Given the description of an element on the screen output the (x, y) to click on. 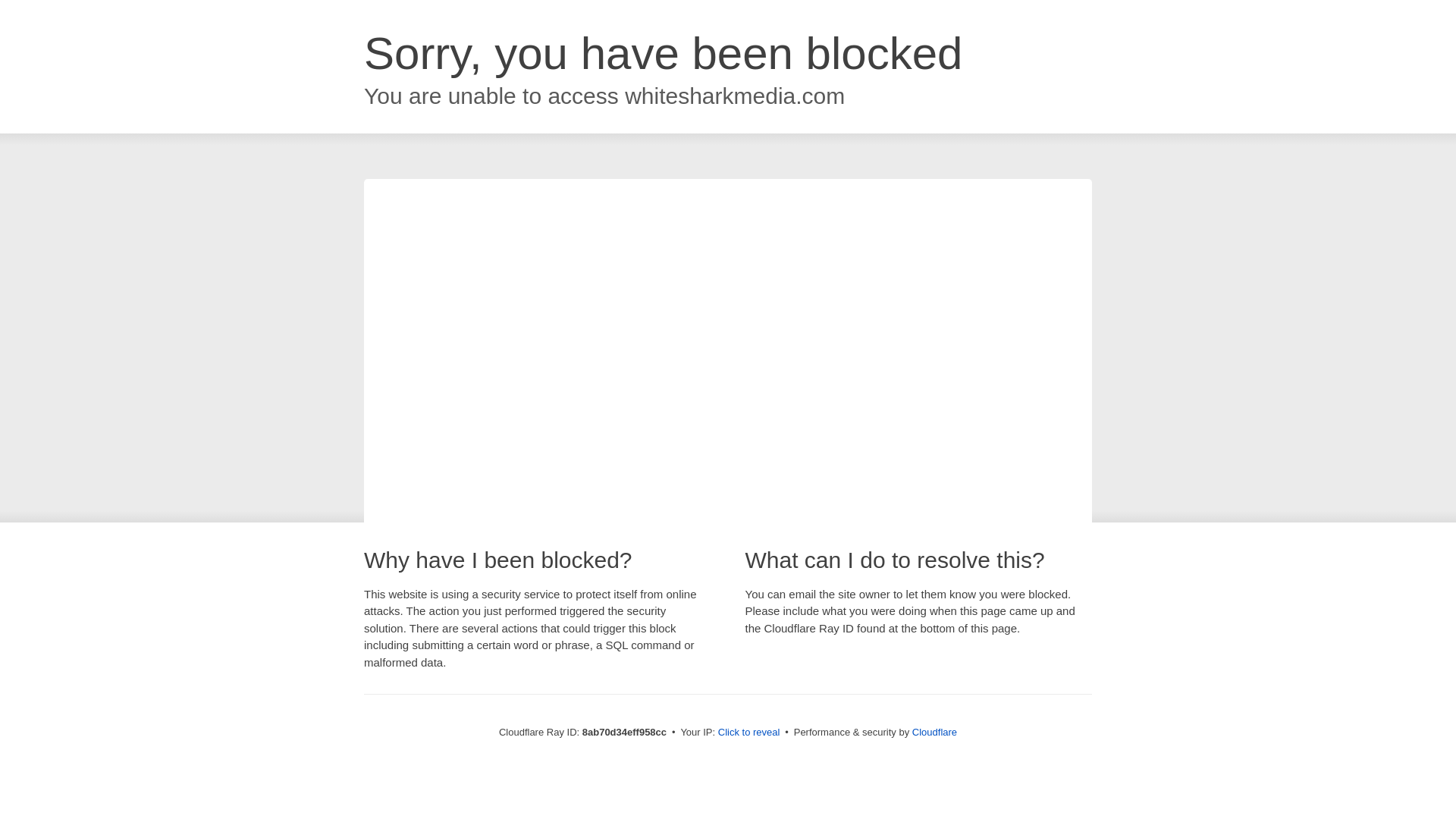
Cloudflare (934, 731)
Click to reveal (748, 732)
